Given the description of an element on the screen output the (x, y) to click on. 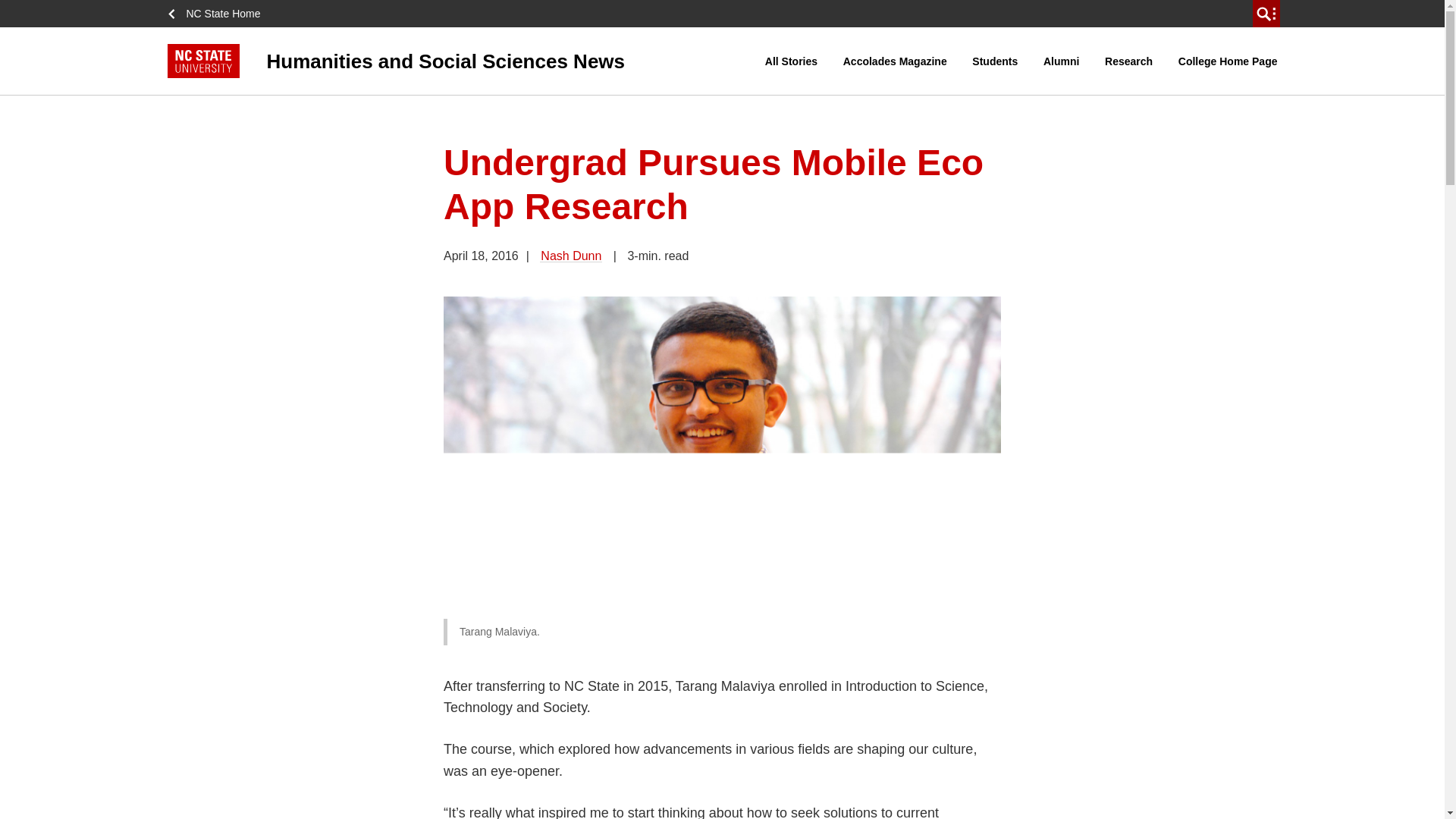
Humanities and Social Sciences News (465, 61)
College Home Page (1228, 61)
NC State Home (217, 13)
All Stories (791, 61)
Students (995, 61)
Posts by Nash Dunn (571, 255)
Accolades Magazine (894, 61)
Alumni (1061, 61)
Research (1127, 61)
